Given the description of an element on the screen output the (x, y) to click on. 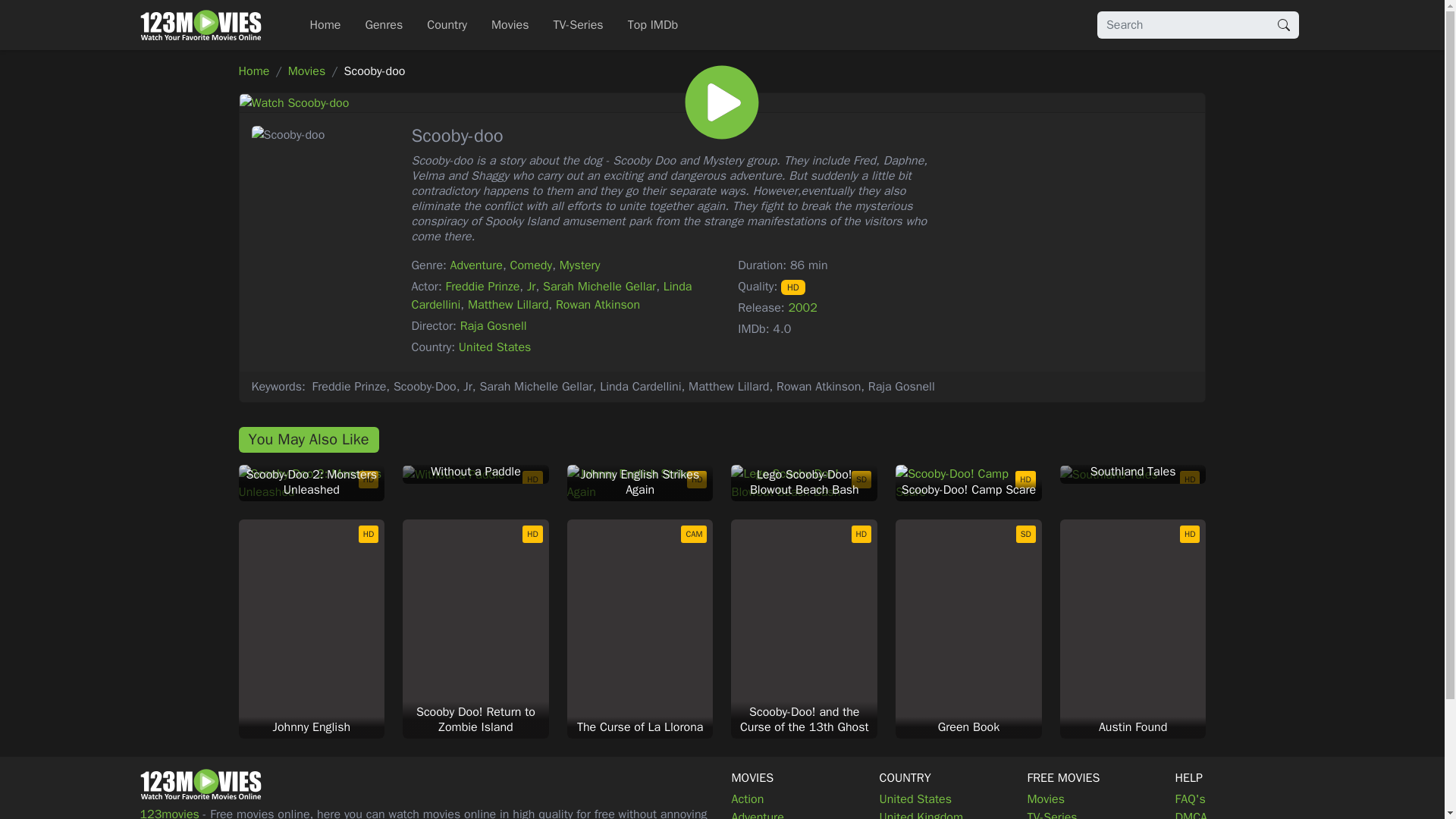
123movies (199, 784)
123movies (199, 24)
123movies (199, 24)
Home (324, 24)
Genres (383, 24)
Country (446, 24)
